Given the description of an element on the screen output the (x, y) to click on. 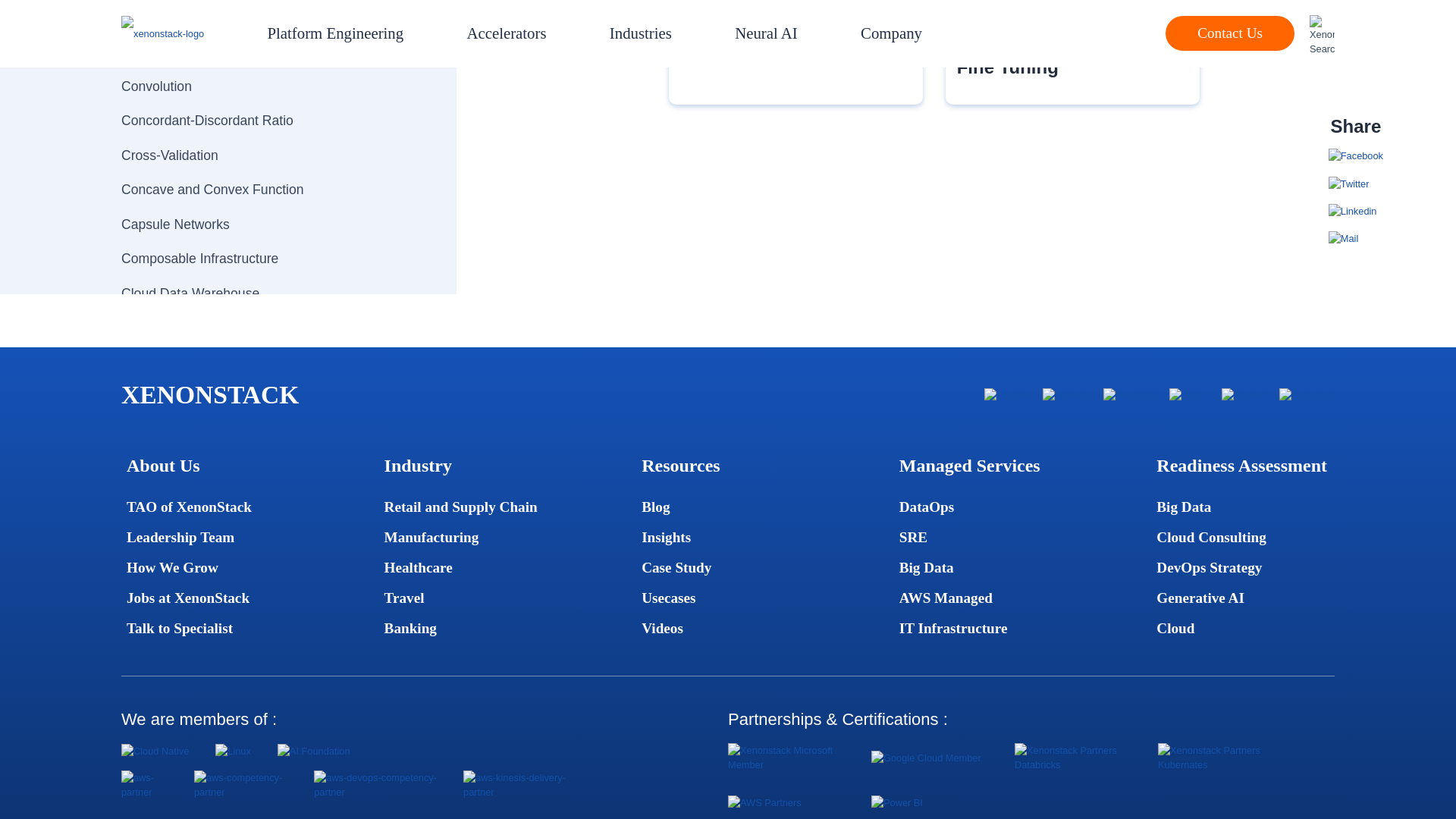
Capsule Networks (262, 224)
Concave and Convex Function (262, 190)
Convolution (262, 86)
Concordant-Discordant Ratio (262, 121)
Cross-Validation (262, 155)
